Given the description of an element on the screen output the (x, y) to click on. 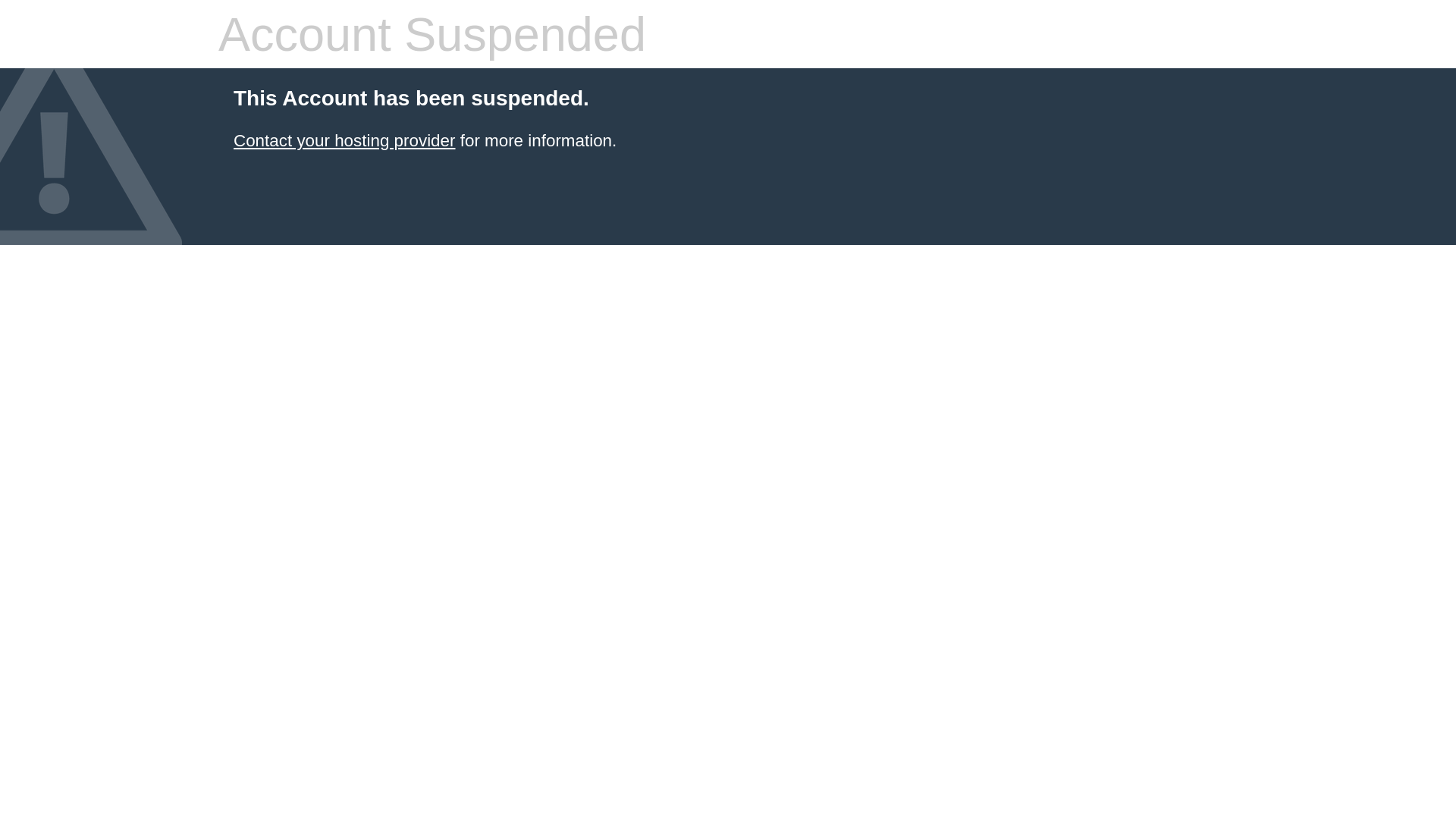
Contact your hosting provider Element type: text (344, 140)
